Given the description of an element on the screen output the (x, y) to click on. 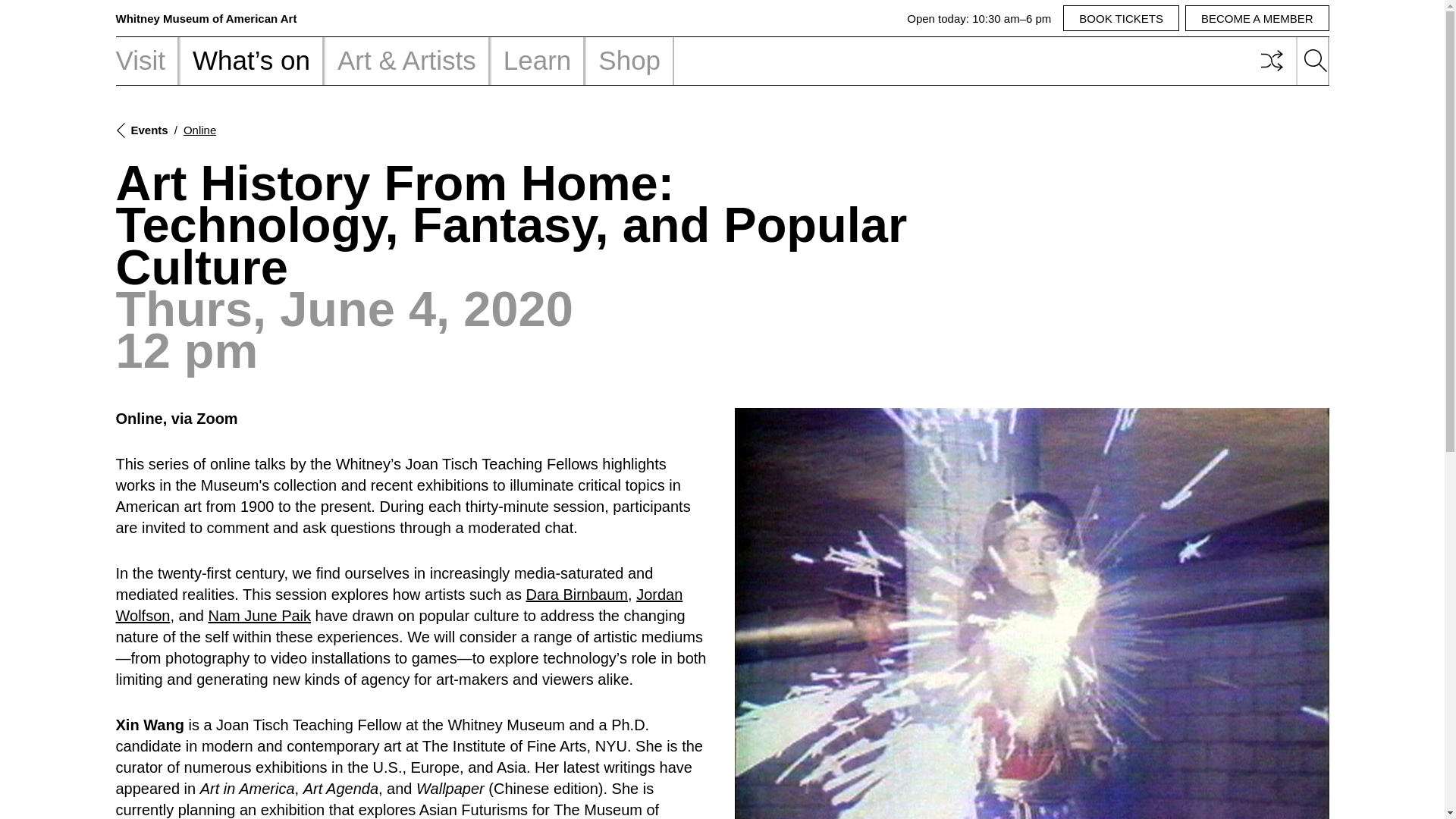
BOOK TICKETS (1120, 18)
Learn (537, 60)
Visit (147, 60)
BECOME A MEMBER (1257, 18)
Whitney Museum of American Art (206, 18)
